Given the description of an element on the screen output the (x, y) to click on. 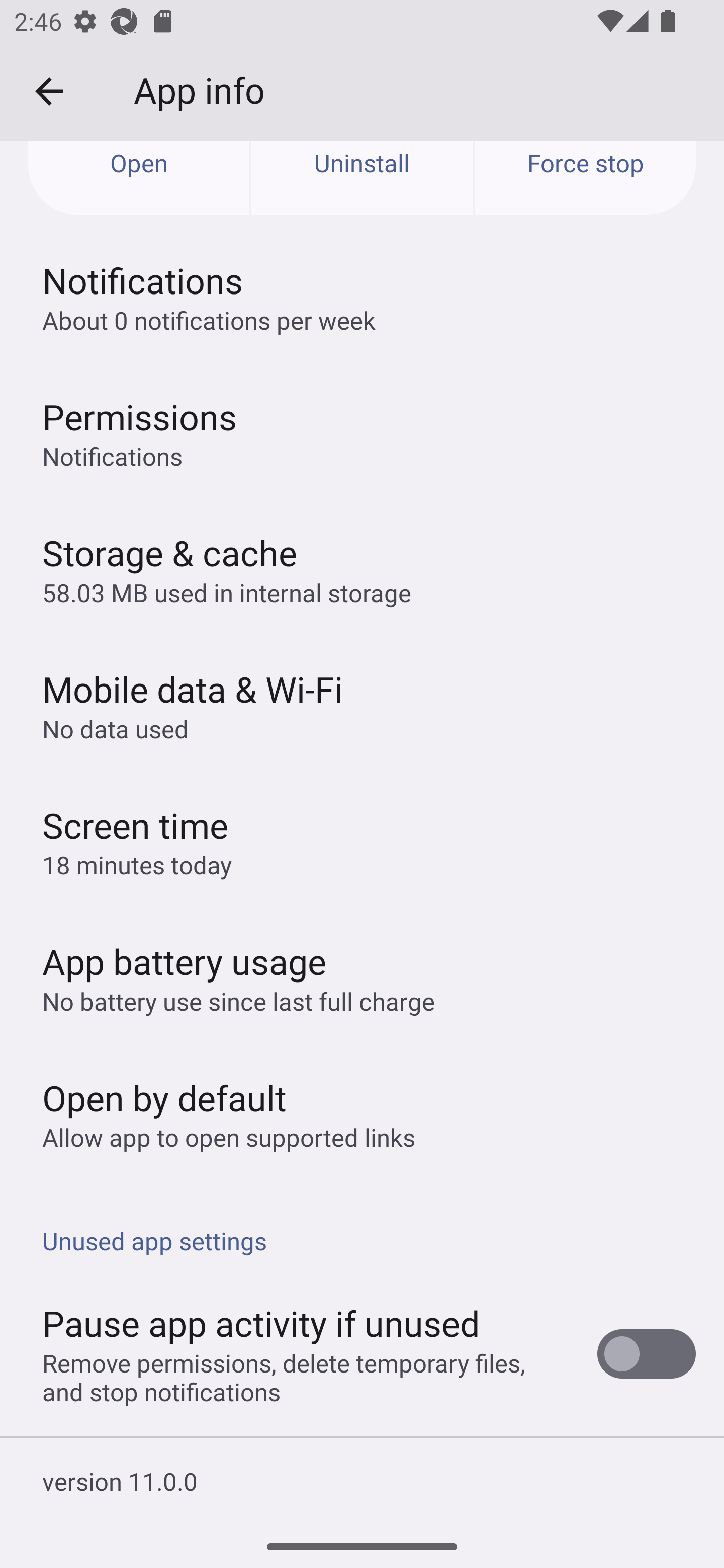
Navigate up (49, 91)
Open (138, 177)
Uninstall (361, 177)
Force stop (584, 177)
Notifications About 0 notifications per week (362, 296)
Permissions Notifications (362, 433)
Storage & cache 58.03 MB used in internal storage (362, 568)
Mobile data & Wi‑Fi No data used (362, 704)
Screen time 18 minutes today (362, 841)
Open by default Allow app to open supported links (362, 1113)
